Given the description of an element on the screen output the (x, y) to click on. 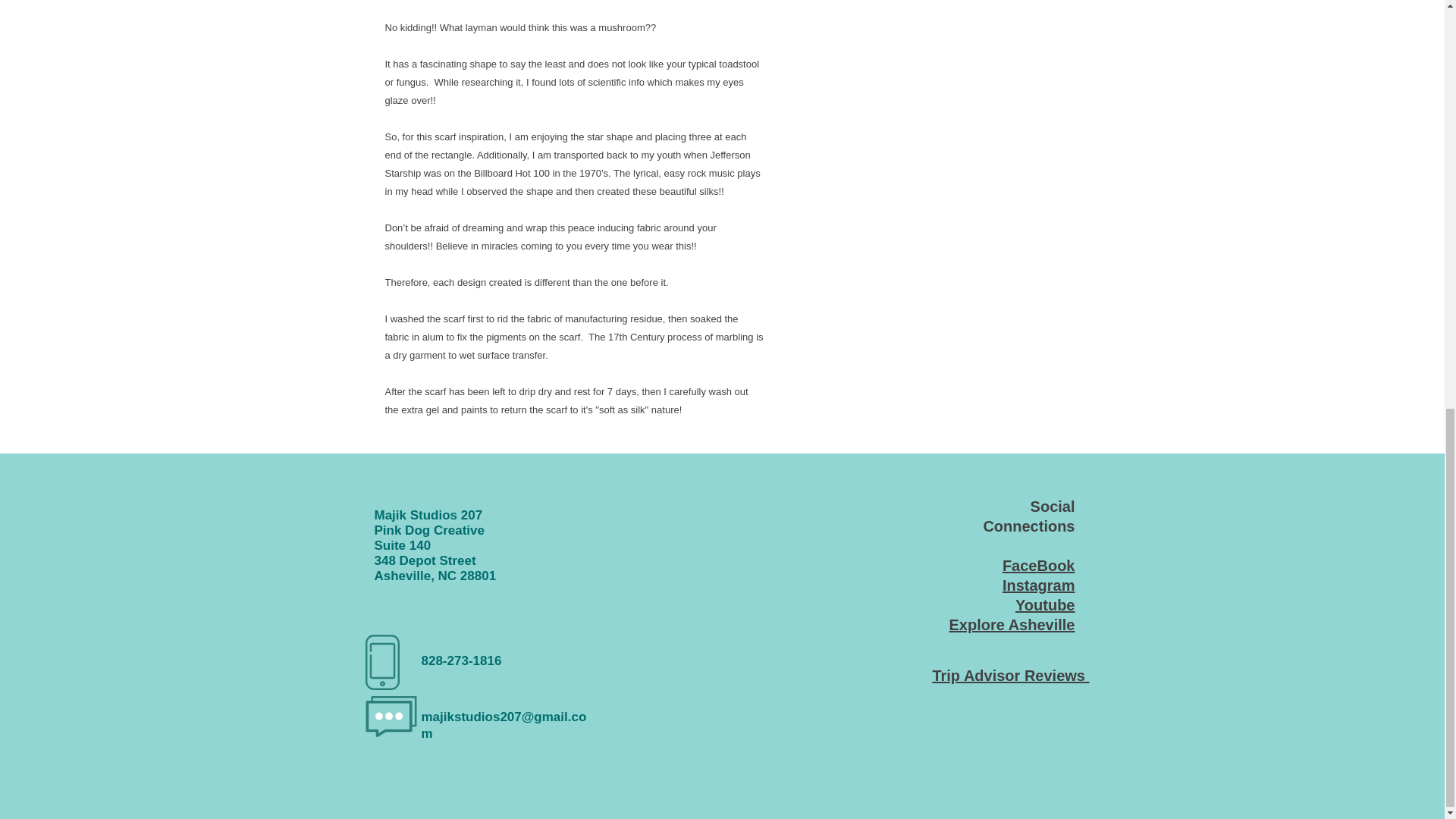
FaceBook (1039, 565)
Explore Asheville (1012, 624)
Trip Advisor Reviews  (1010, 675)
Youtube (1044, 605)
Instagram (1039, 585)
